Given the description of an element on the screen output the (x, y) to click on. 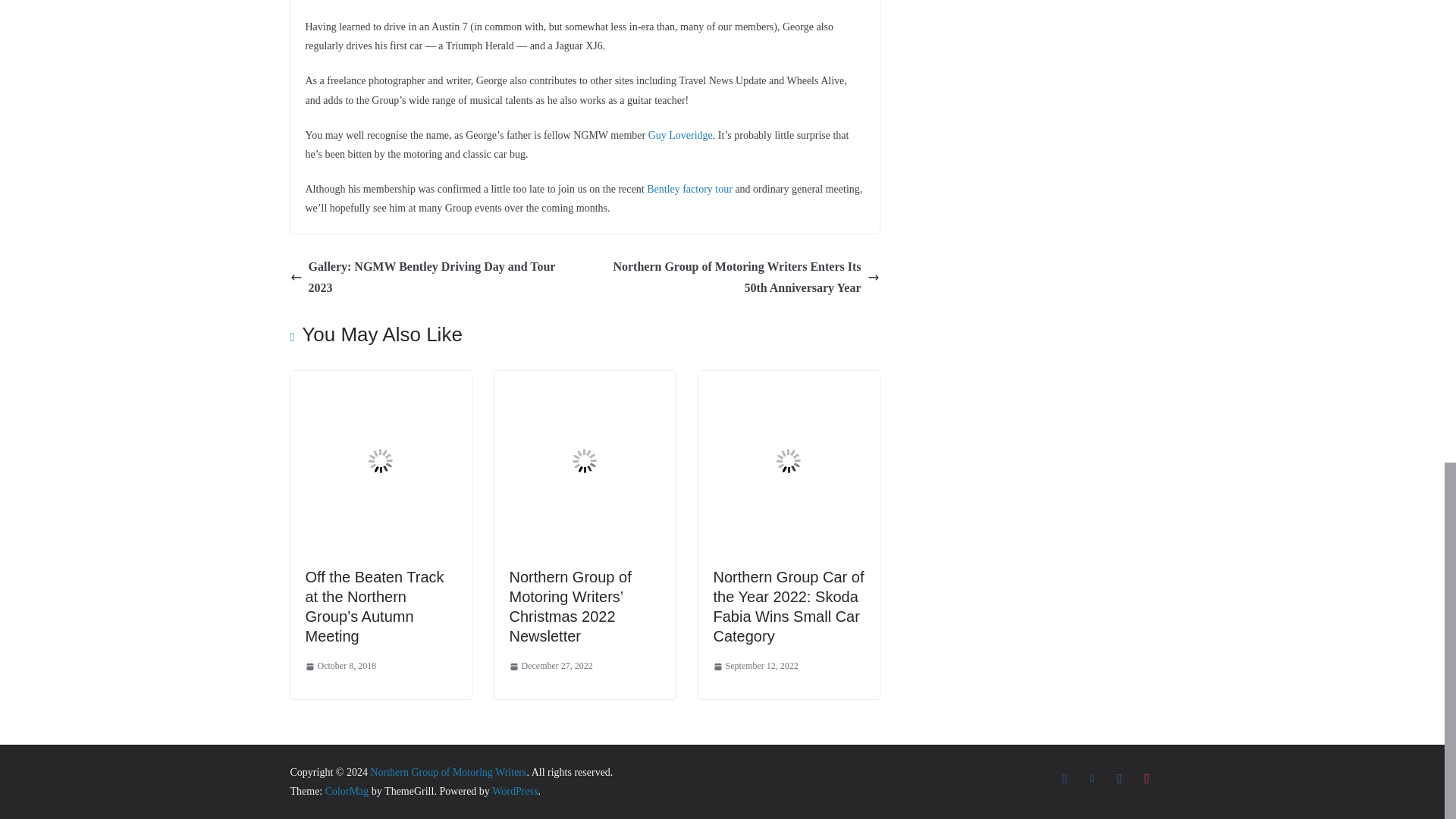
Bentley factory tour (689, 188)
October 8, 2018 (339, 666)
12:00 pm (339, 666)
September 12, 2022 (755, 666)
December 27, 2022 (550, 666)
Gallery: NGMW Bentley Driving Day and Tour 2023 (432, 278)
Guy Loveridge (680, 134)
